Given the description of an element on the screen output the (x, y) to click on. 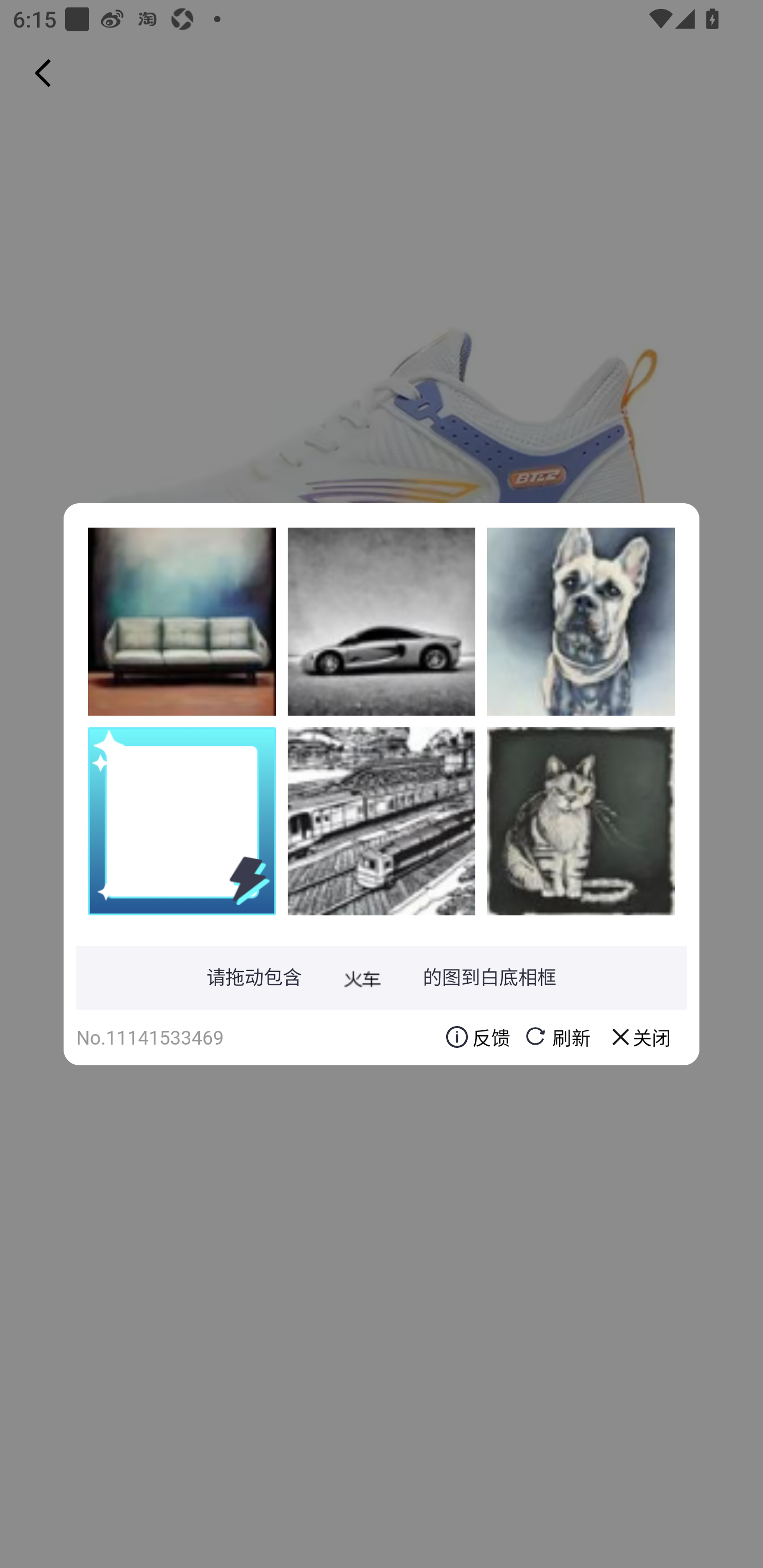
vpjsghNhLIkuLJqaQi57vizmvXS2Lc (181, 621)
RtvaBl5qwwz9pmeKxpzD (580, 621)
vvtl9q7dyLZCcnZDYgK4RUwMlls03jpSwkNdI5j4Z (381, 820)
c04GQma2N6Mvwftc9093v7ukkWtLobrkU1sKr6gQJmpjWpgQ (580, 820)
